Given the description of an element on the screen output the (x, y) to click on. 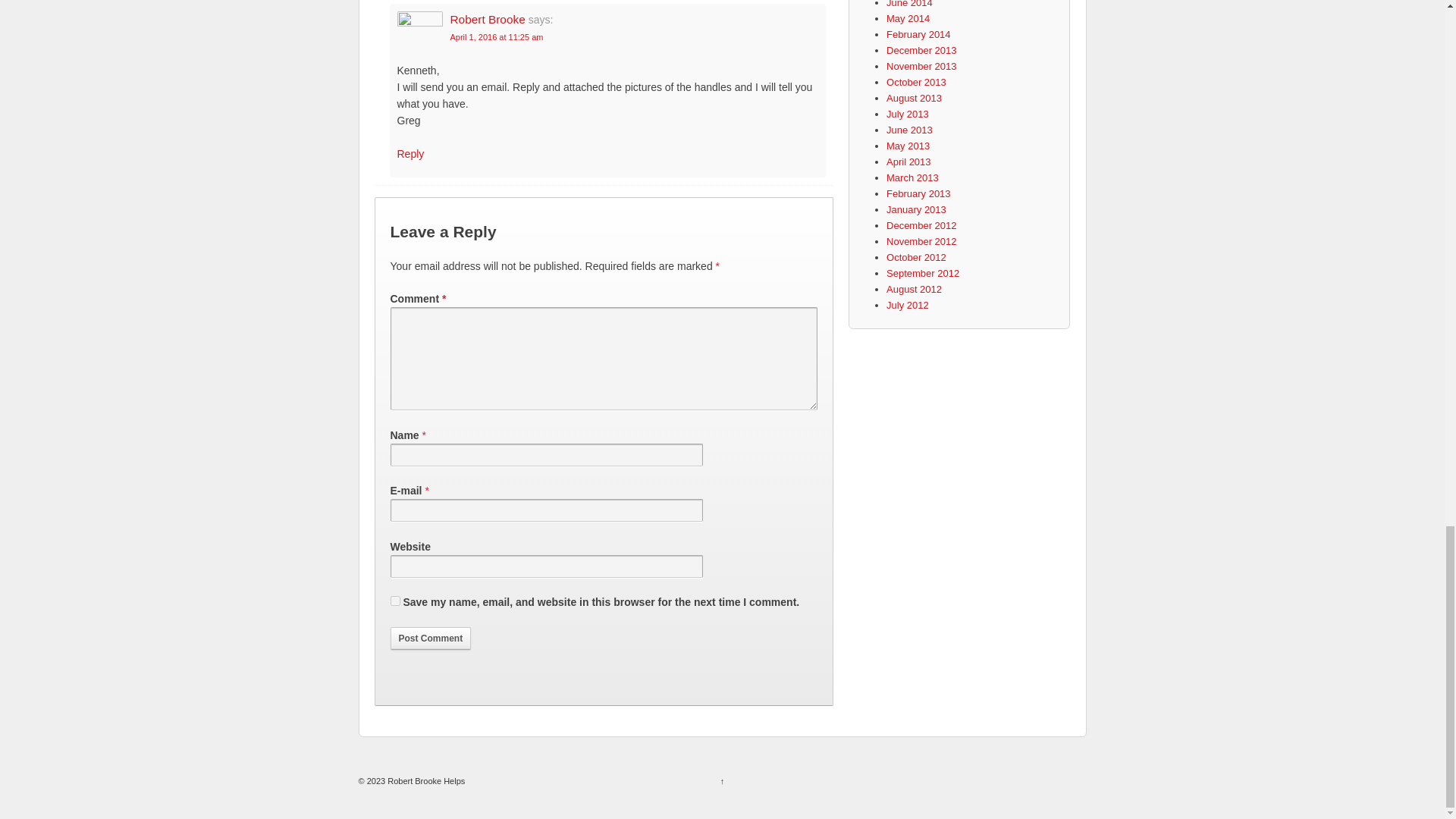
Post Comment (430, 638)
Robert Brooke Helps (424, 780)
yes (394, 601)
